Given the description of an element on the screen output the (x, y) to click on. 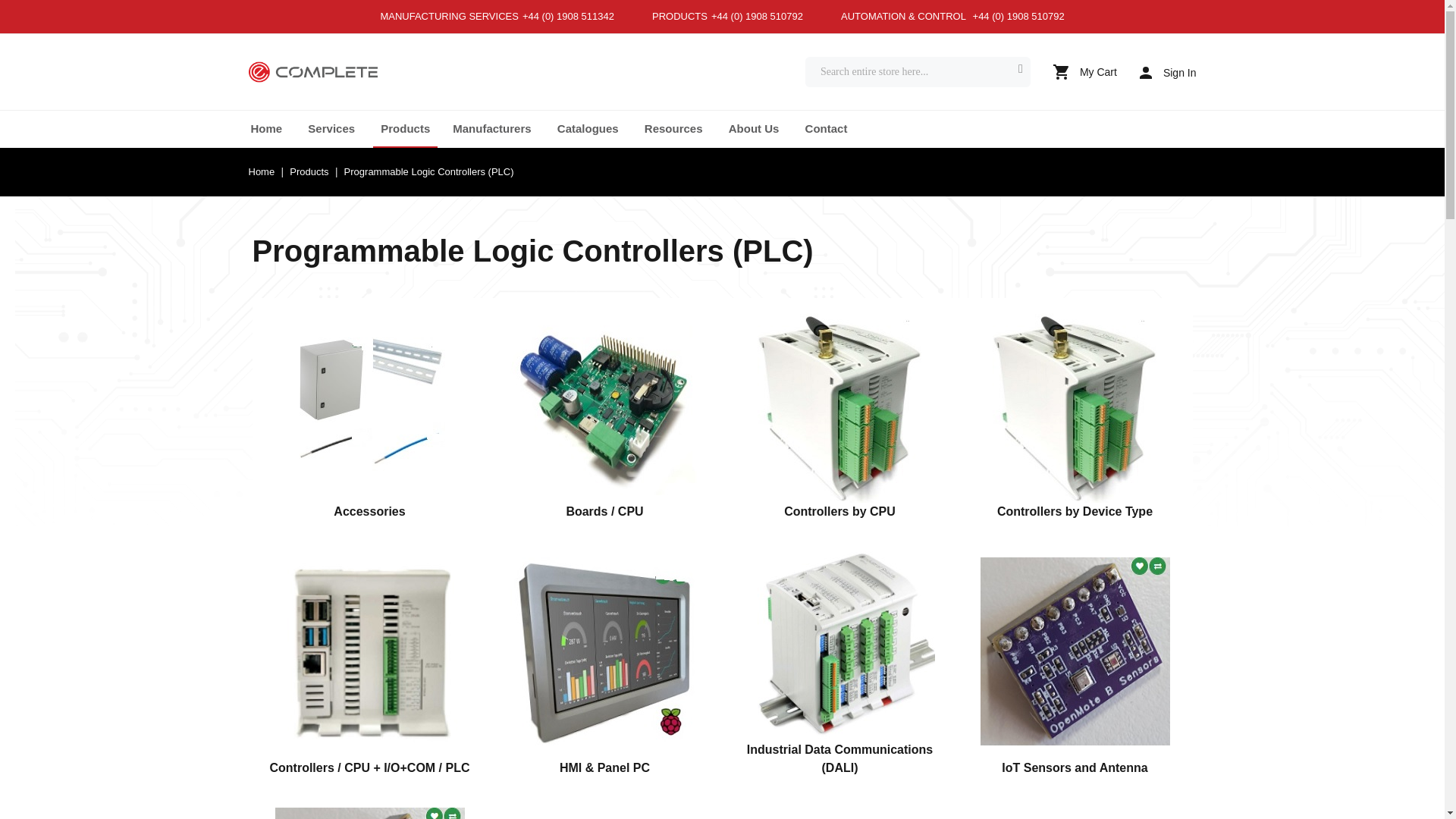
Sign In (1168, 72)
My Cart (1084, 72)
Industrial Connectors and Connectivity Solutions (312, 72)
Services (330, 128)
Products (405, 128)
Home (266, 128)
Manufacturers (491, 128)
Go to Home Page (263, 171)
